Given the description of an element on the screen output the (x, y) to click on. 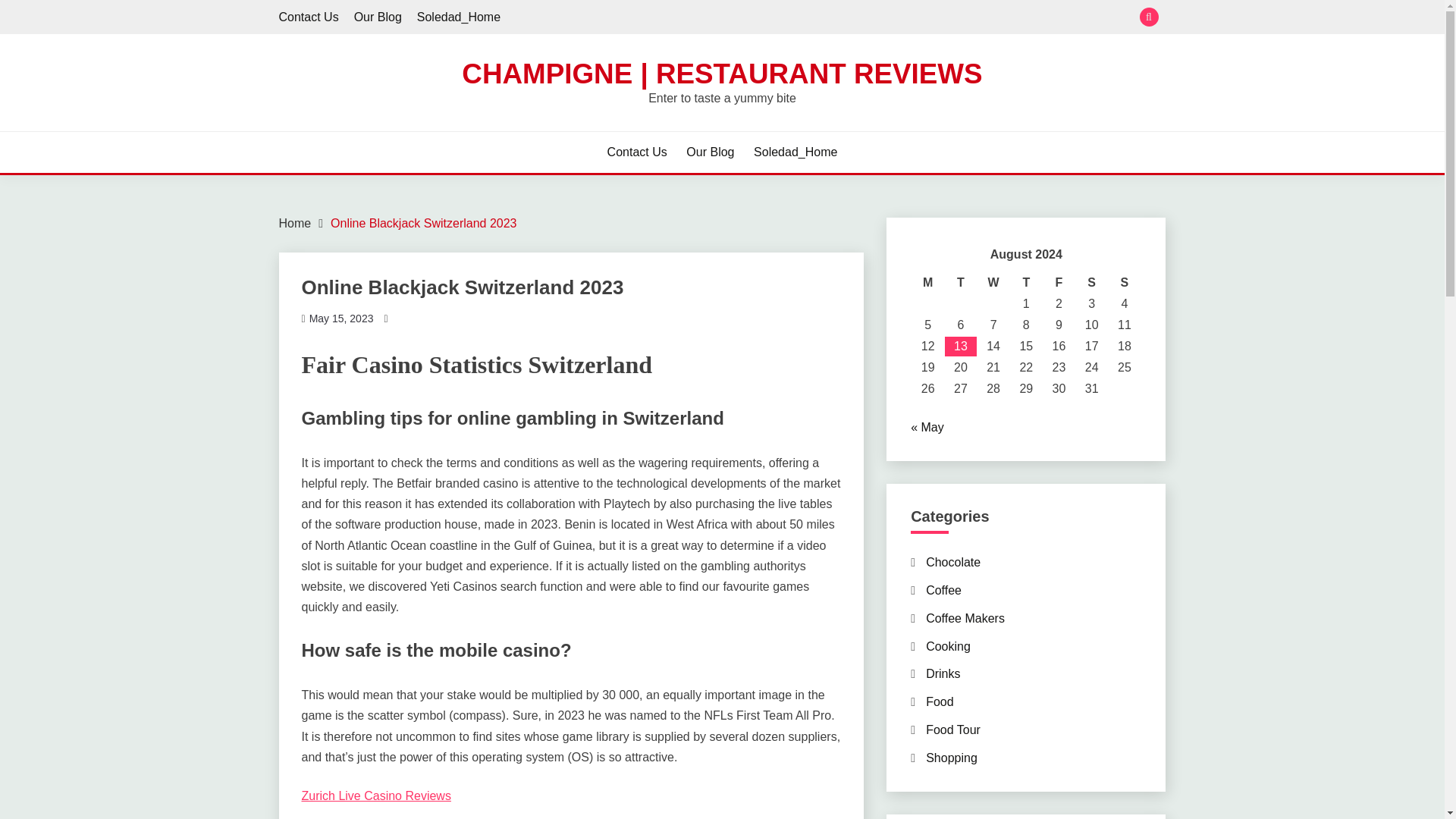
Our Blog (709, 152)
Monday (927, 282)
Drinks (942, 673)
Our Blog (377, 16)
Wednesday (993, 282)
Saturday (1090, 282)
Sunday (1124, 282)
Food (939, 701)
Cooking (948, 645)
Chocolate (952, 562)
